Given the description of an element on the screen output the (x, y) to click on. 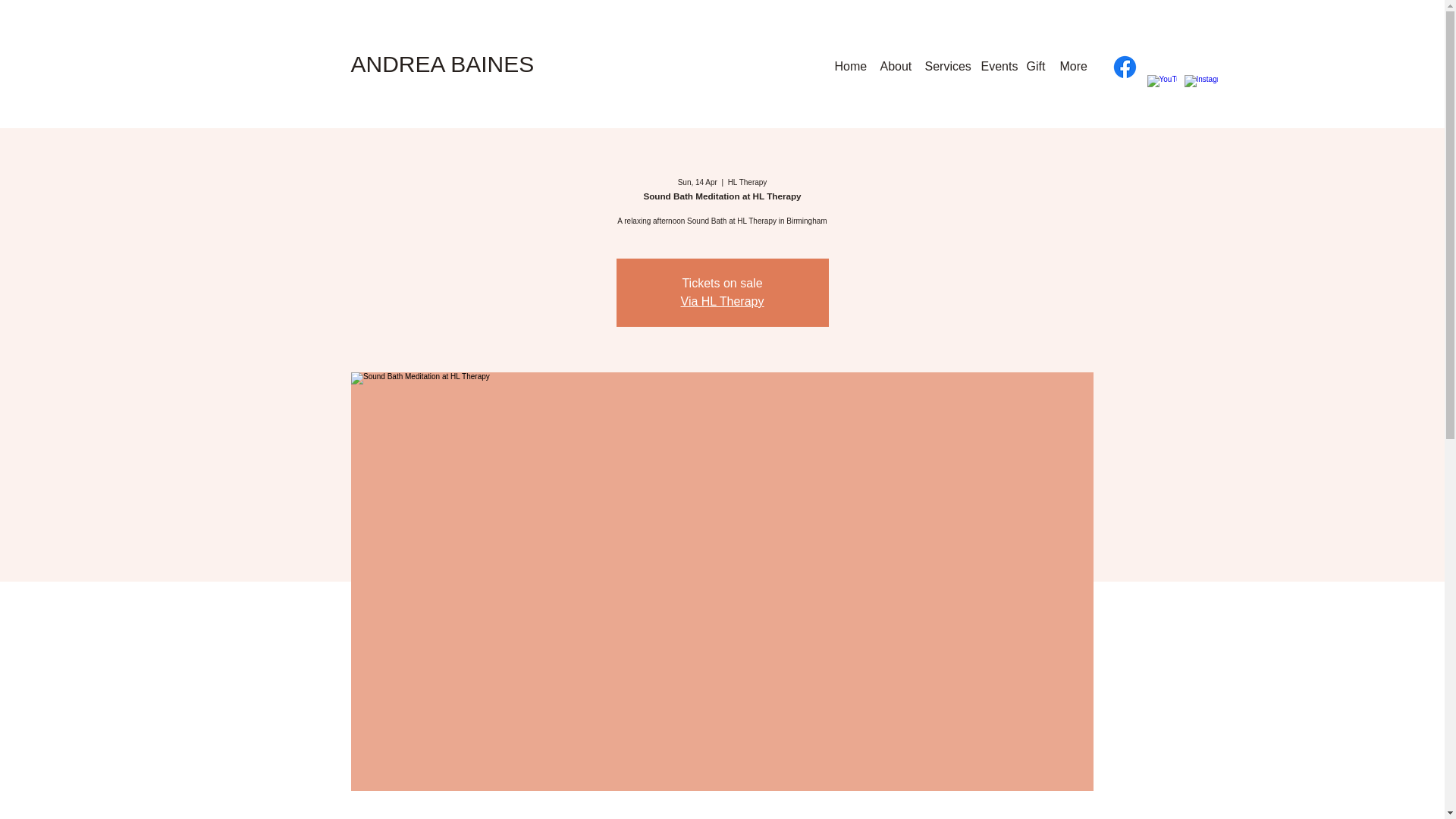
About (894, 66)
Events (996, 66)
ANDREA BAINES (442, 63)
Services (945, 66)
Gift (1035, 66)
Home (849, 66)
Via HL Therapy (722, 300)
